Given the description of an element on the screen output the (x, y) to click on. 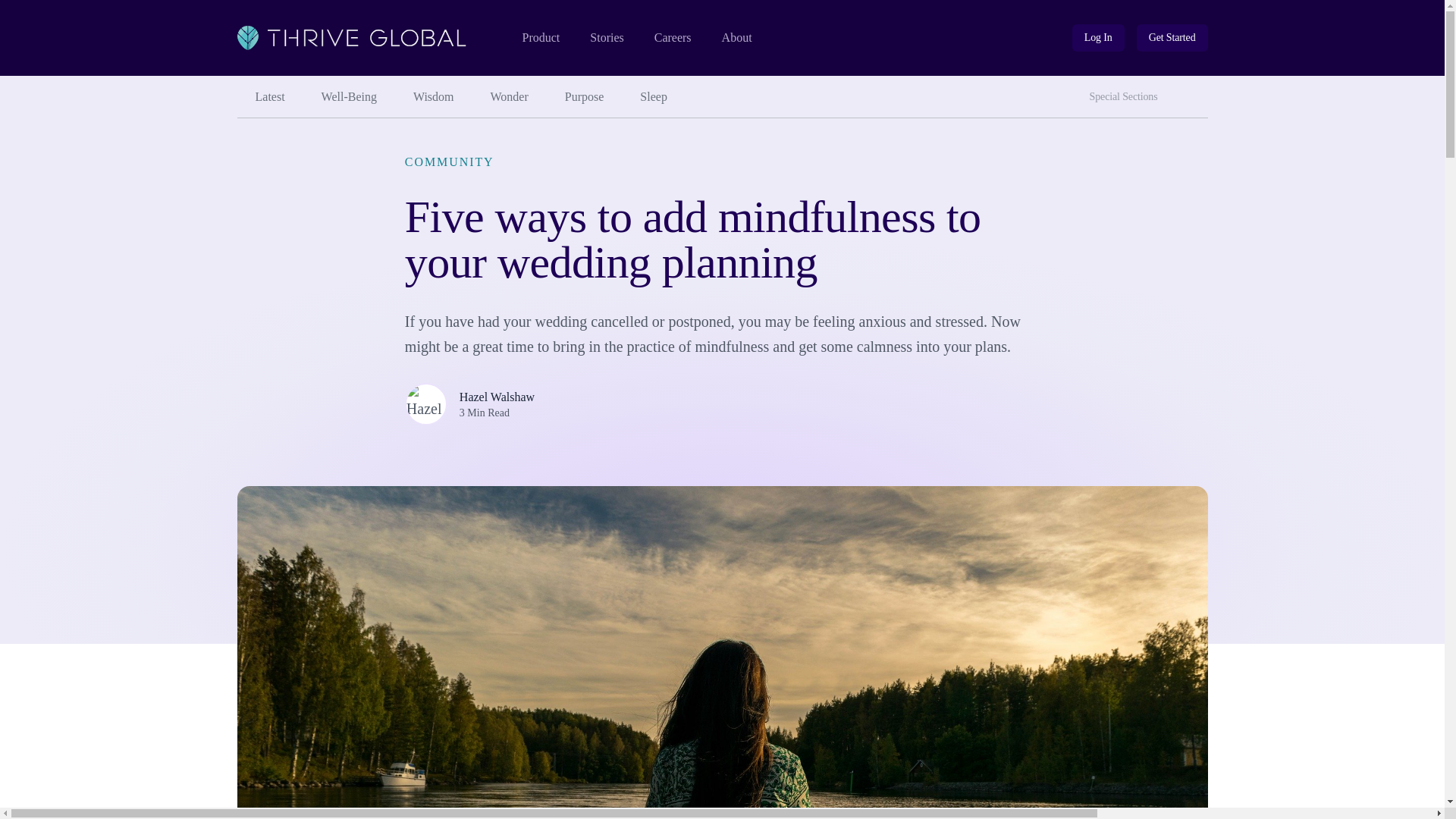
Wonder (509, 96)
Well-Being (348, 96)
Careers (672, 37)
Stories (606, 37)
Purpose (1193, 91)
Wisdom (585, 96)
Special Sections (432, 96)
About (1126, 97)
Sleep (737, 37)
